Given the description of an element on the screen output the (x, y) to click on. 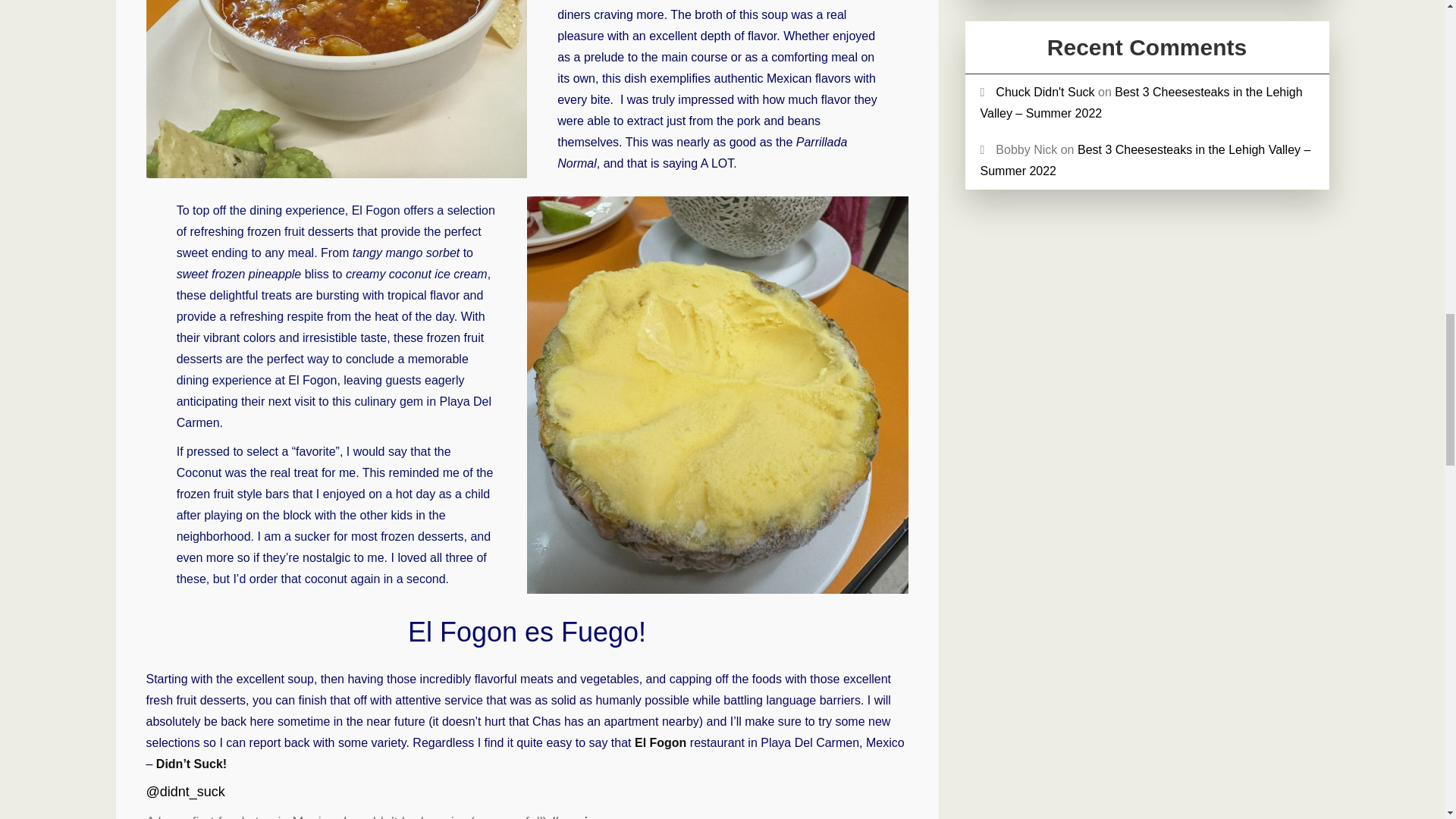
mexico (576, 816)
